Given the description of an element on the screen output the (x, y) to click on. 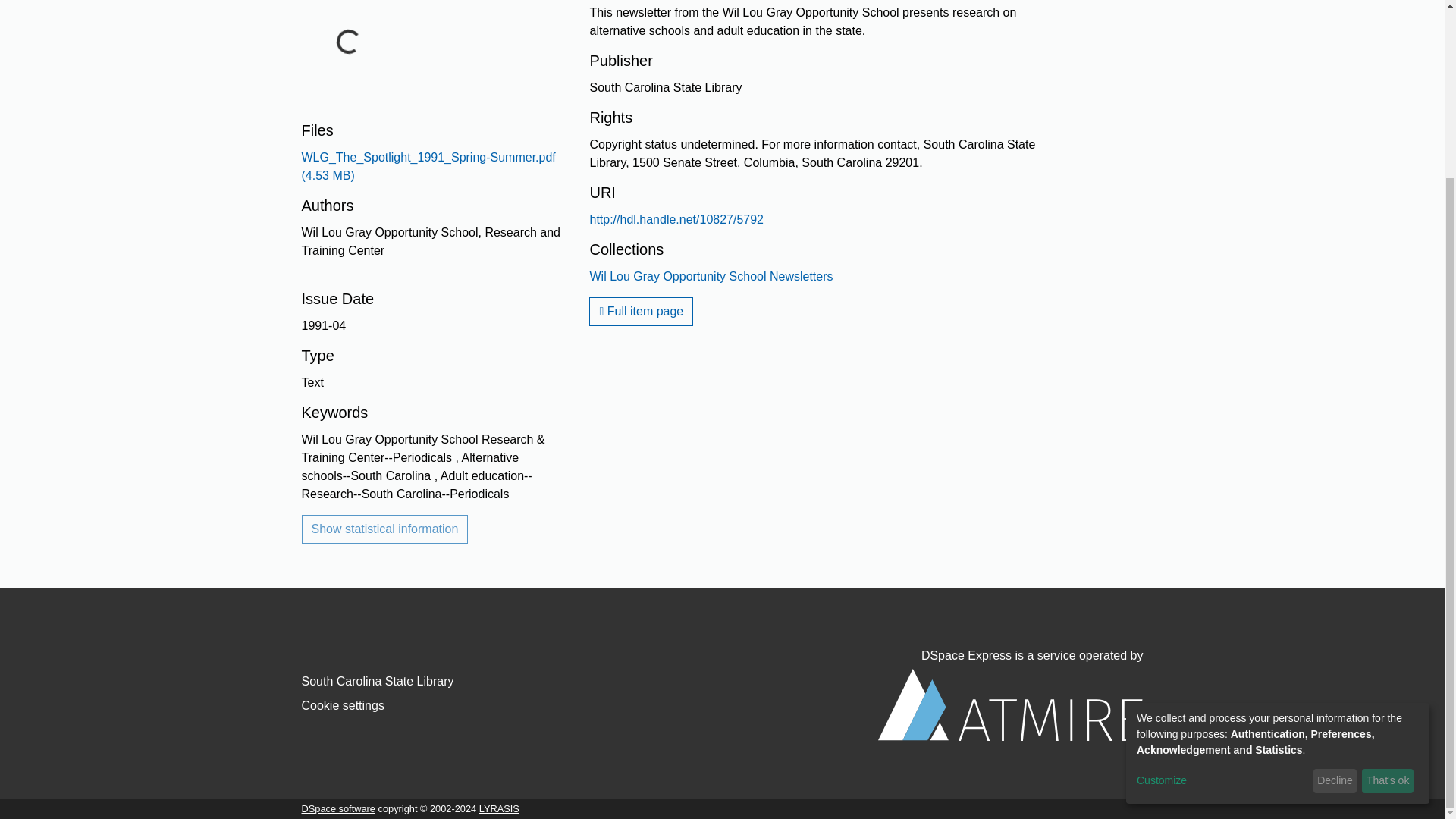
Full item page (641, 311)
South Carolina State Library (377, 680)
DSpace software (338, 808)
Cookie settings (342, 705)
LYRASIS (499, 808)
That's ok (1387, 563)
Show statistical information (384, 529)
DSpace Express is a service operated by (1009, 695)
Wil Lou Gray Opportunity School Newsletters (710, 276)
Decline (1334, 563)
